Given the description of an element on the screen output the (x, y) to click on. 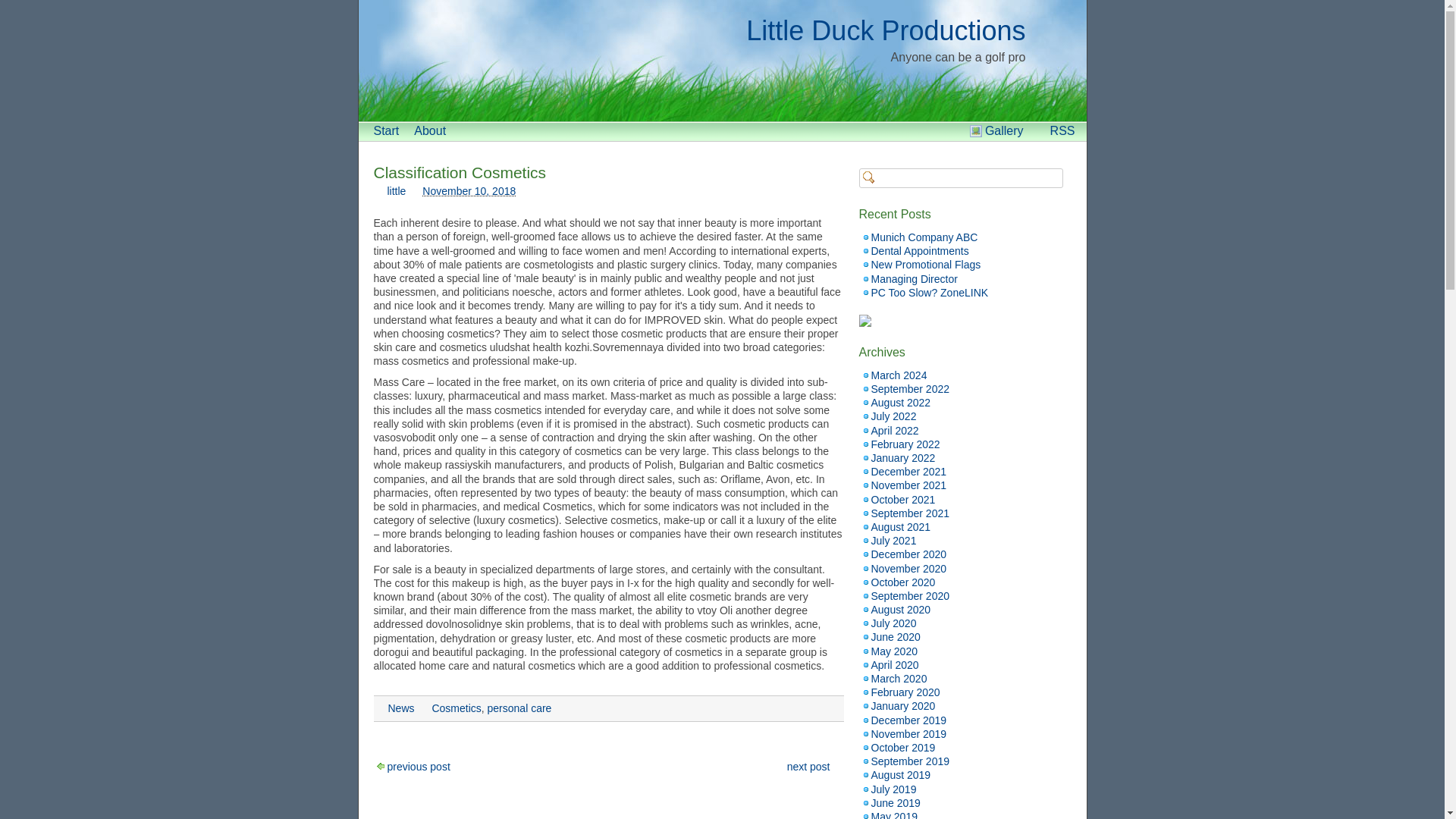
September 2022 (909, 388)
PC Too Slow? ZoneLINK (929, 292)
Classification Cosmetics (459, 171)
Search (21, 8)
August 2020 (900, 609)
March 2024 (898, 375)
December 2021 (908, 471)
December 2020 (908, 553)
November 2021 (908, 485)
little (396, 191)
